Given the description of an element on the screen output the (x, y) to click on. 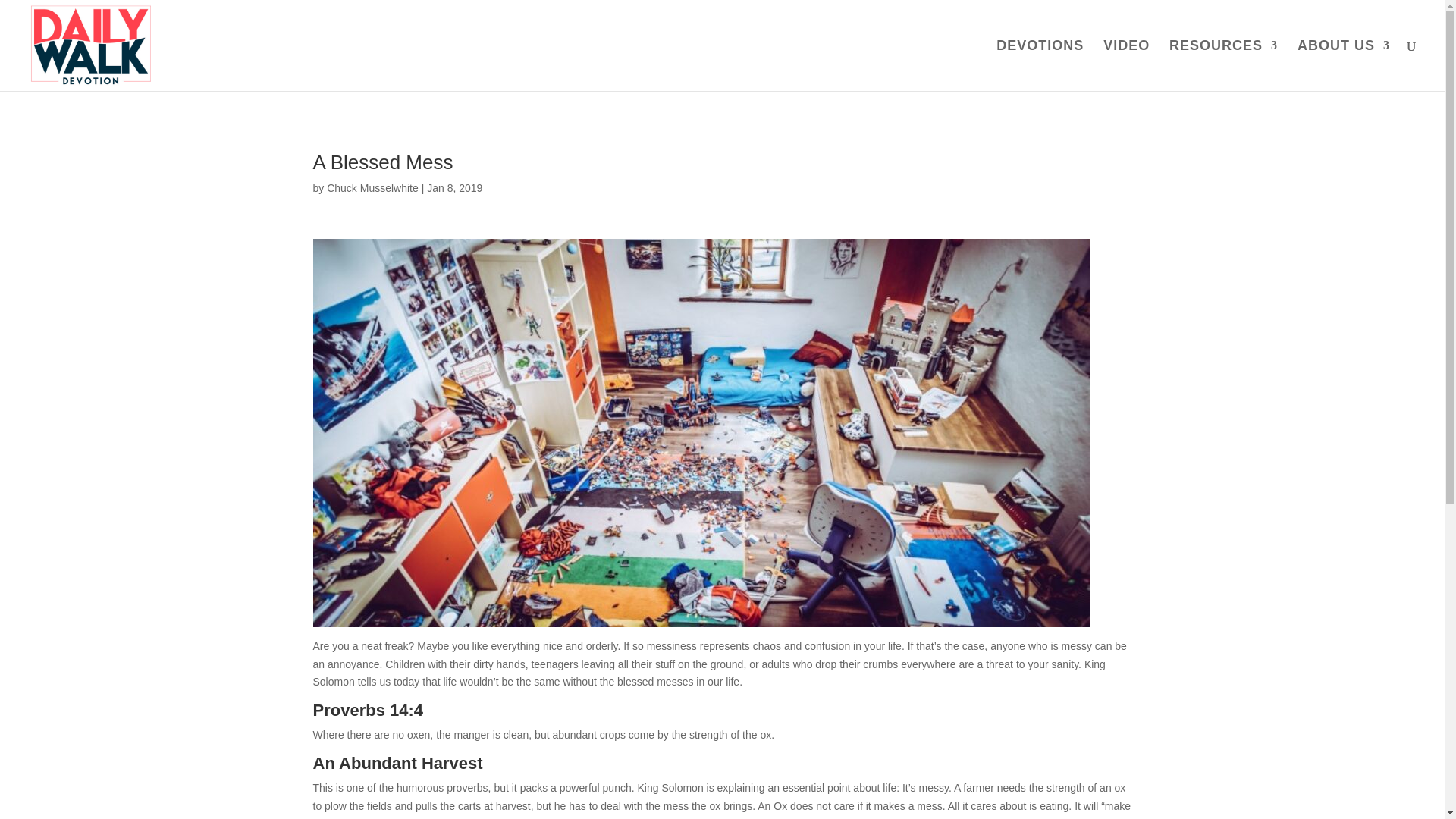
Chuck Musselwhite (372, 187)
Posts by Chuck Musselwhite (372, 187)
DEVOTIONS (1039, 65)
VIDEO (1126, 65)
RESOURCES (1223, 65)
ABOUT US (1343, 65)
